Given the description of an element on the screen output the (x, y) to click on. 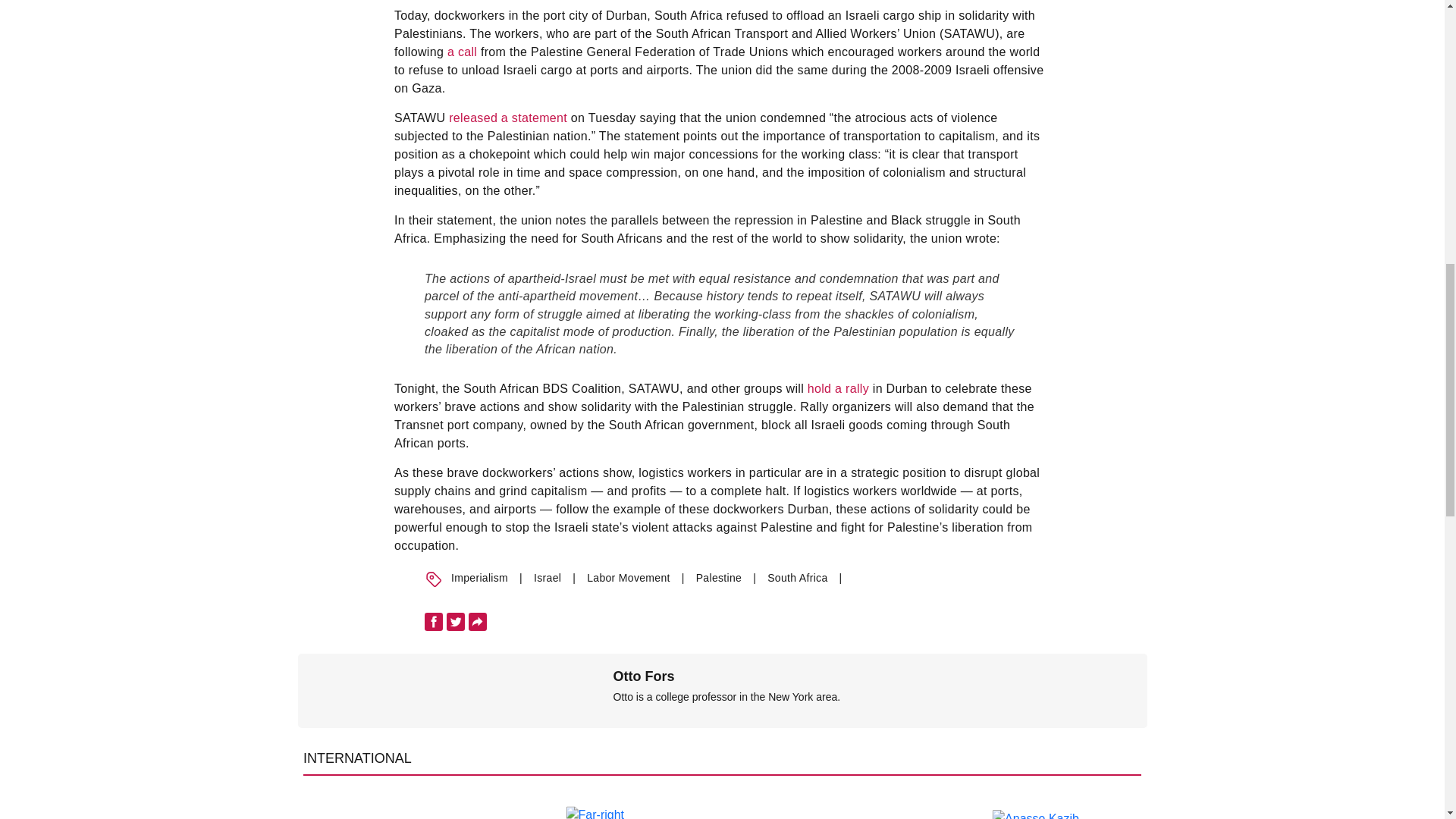
hold a rally (838, 388)
released a statement (507, 117)
a call (461, 51)
Imperialism (479, 577)
